Given the description of an element on the screen output the (x, y) to click on. 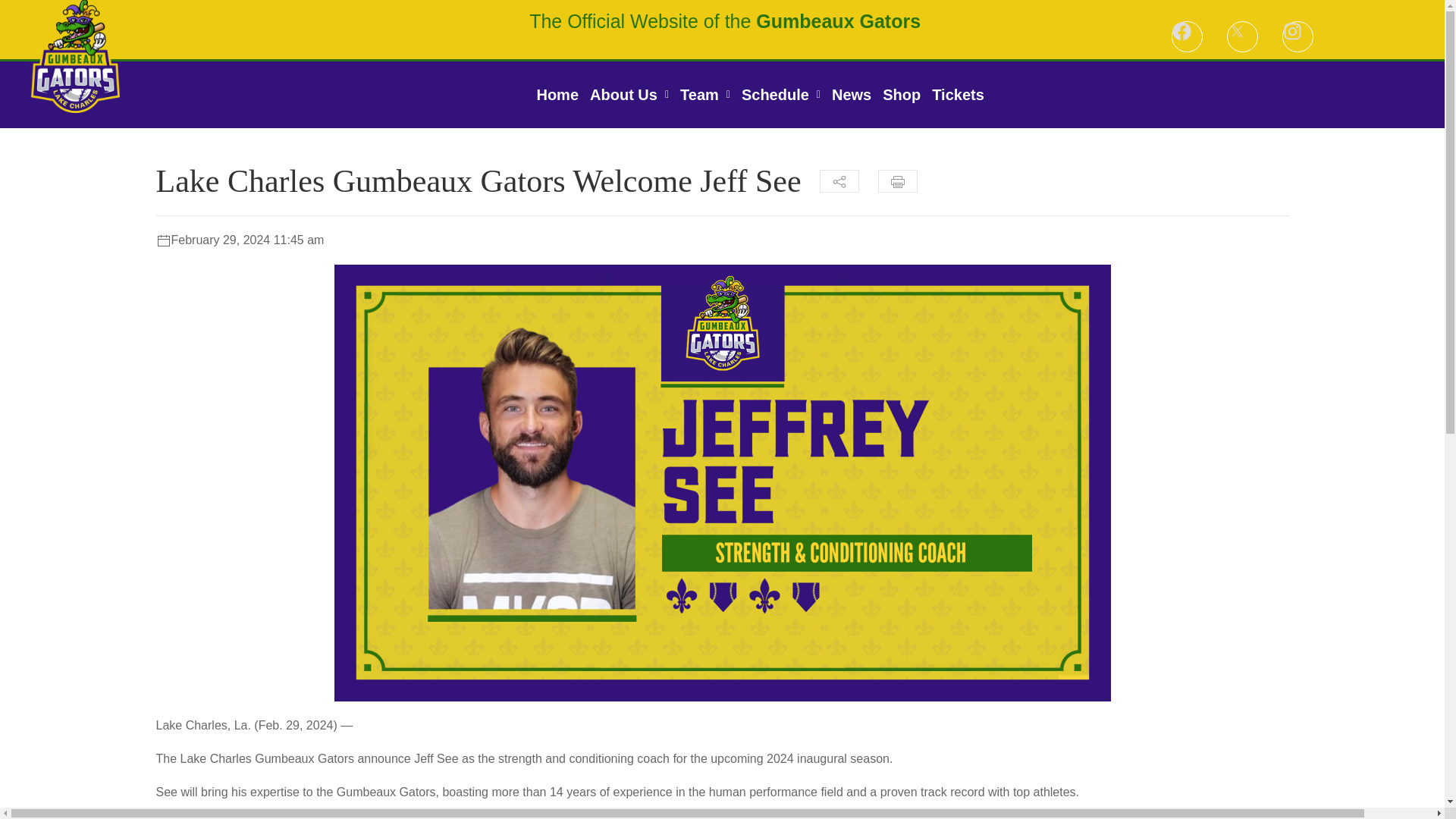
Team (705, 94)
Schedule (781, 94)
Tickets (958, 94)
Home (557, 94)
About Us (629, 94)
Shop (901, 94)
News (851, 94)
